Given the description of an element on the screen output the (x, y) to click on. 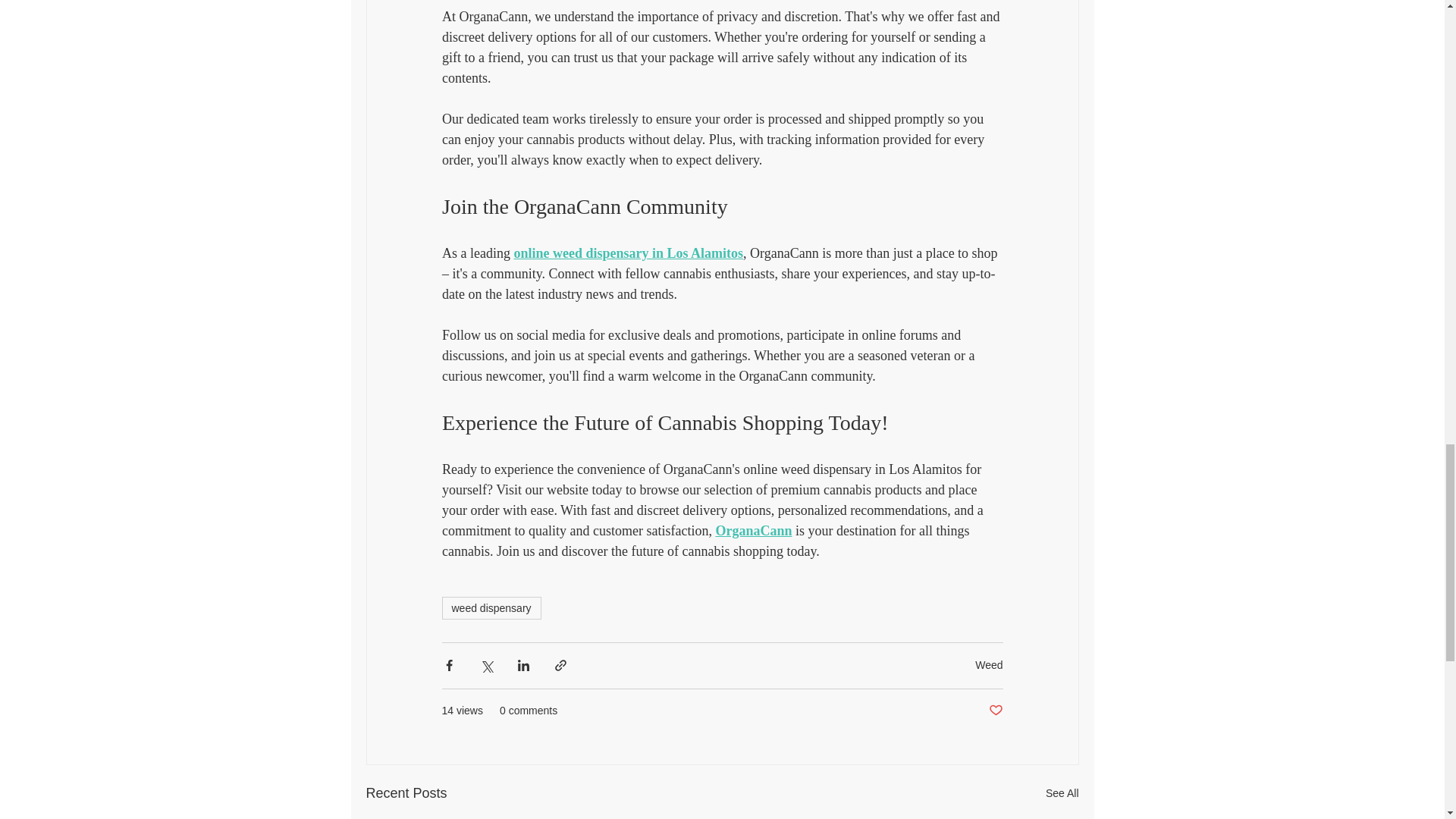
online weed dispensary in Los Alamitos (627, 253)
weed dispensary (490, 607)
OrganaCann (753, 530)
